Given the description of an element on the screen output the (x, y) to click on. 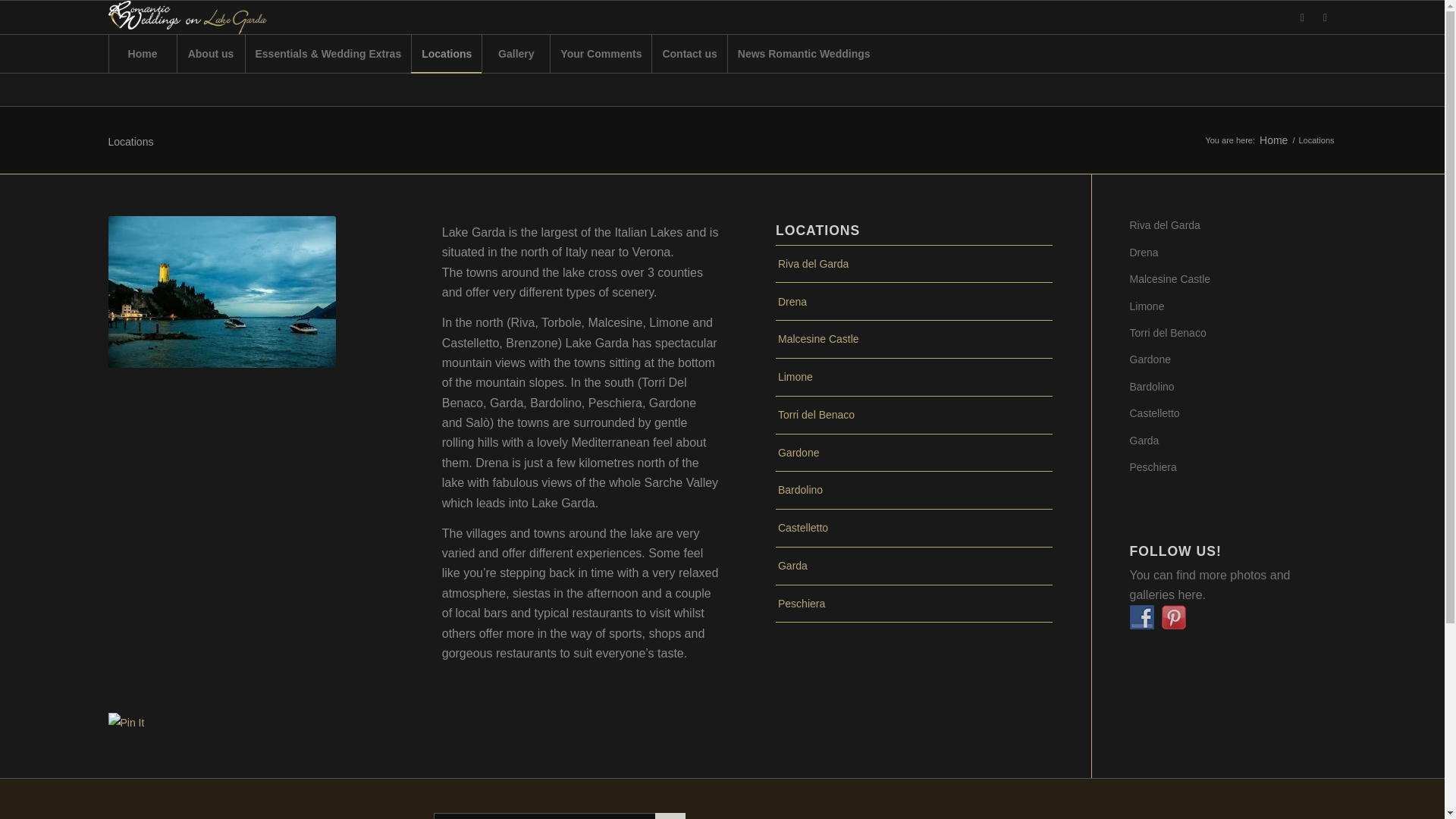
News Romantic Weddings (803, 53)
Facebook (1301, 16)
Your Comments (600, 53)
About us (210, 53)
Riva del Garda (914, 263)
Permanent Link: Locations (129, 141)
romantic weddings on lake garda (1173, 617)
Gallery (515, 53)
Home (1273, 140)
romantic weddings on lake garda (1141, 617)
Locations (445, 53)
Pin It (125, 722)
Pinterest (1324, 16)
Locations (129, 141)
Home (141, 53)
